Given the description of an element on the screen output the (x, y) to click on. 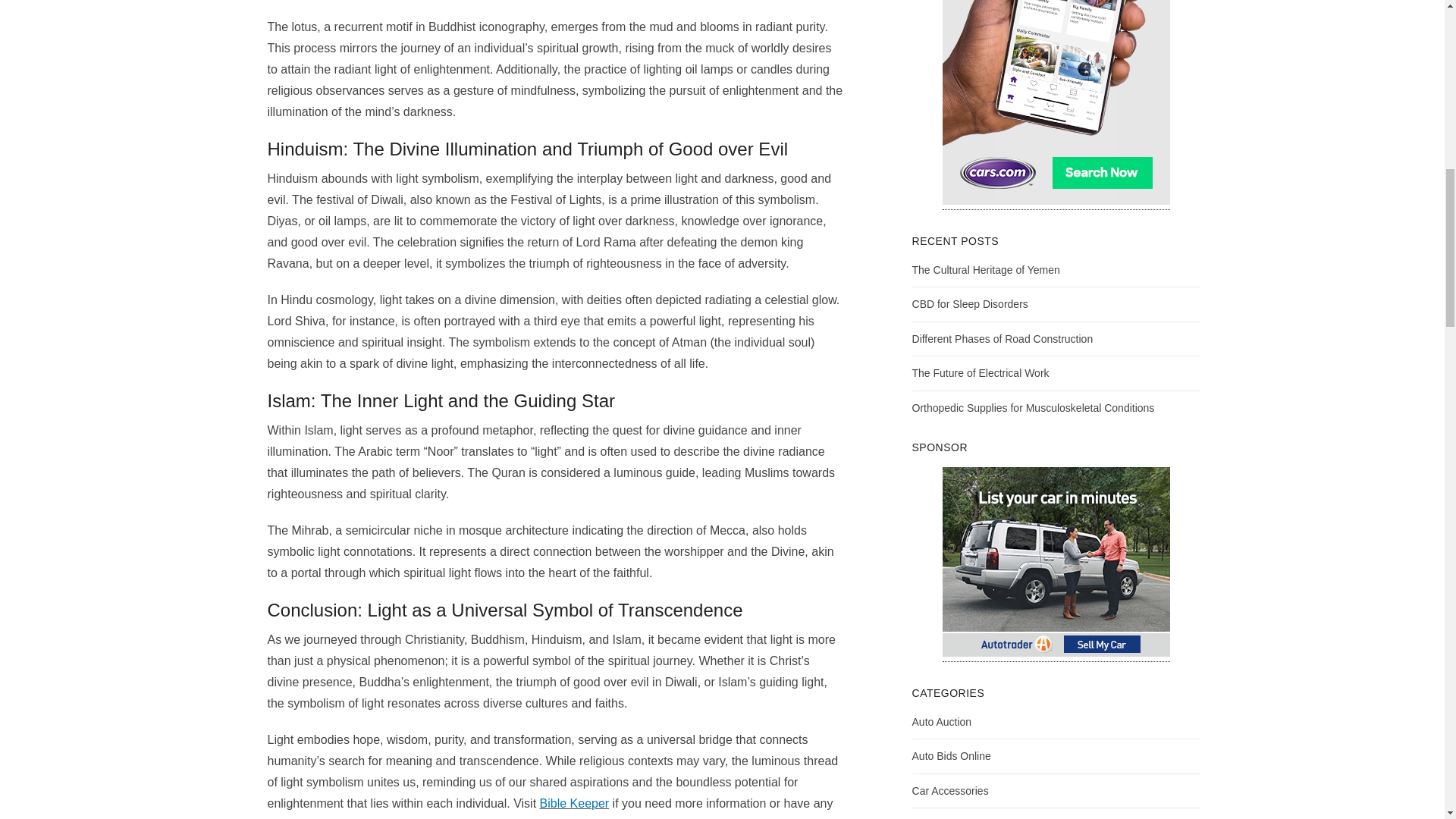
The Cultural Heritage of Yemen (985, 269)
Bible Keeper (575, 802)
